Given the description of an element on the screen output the (x, y) to click on. 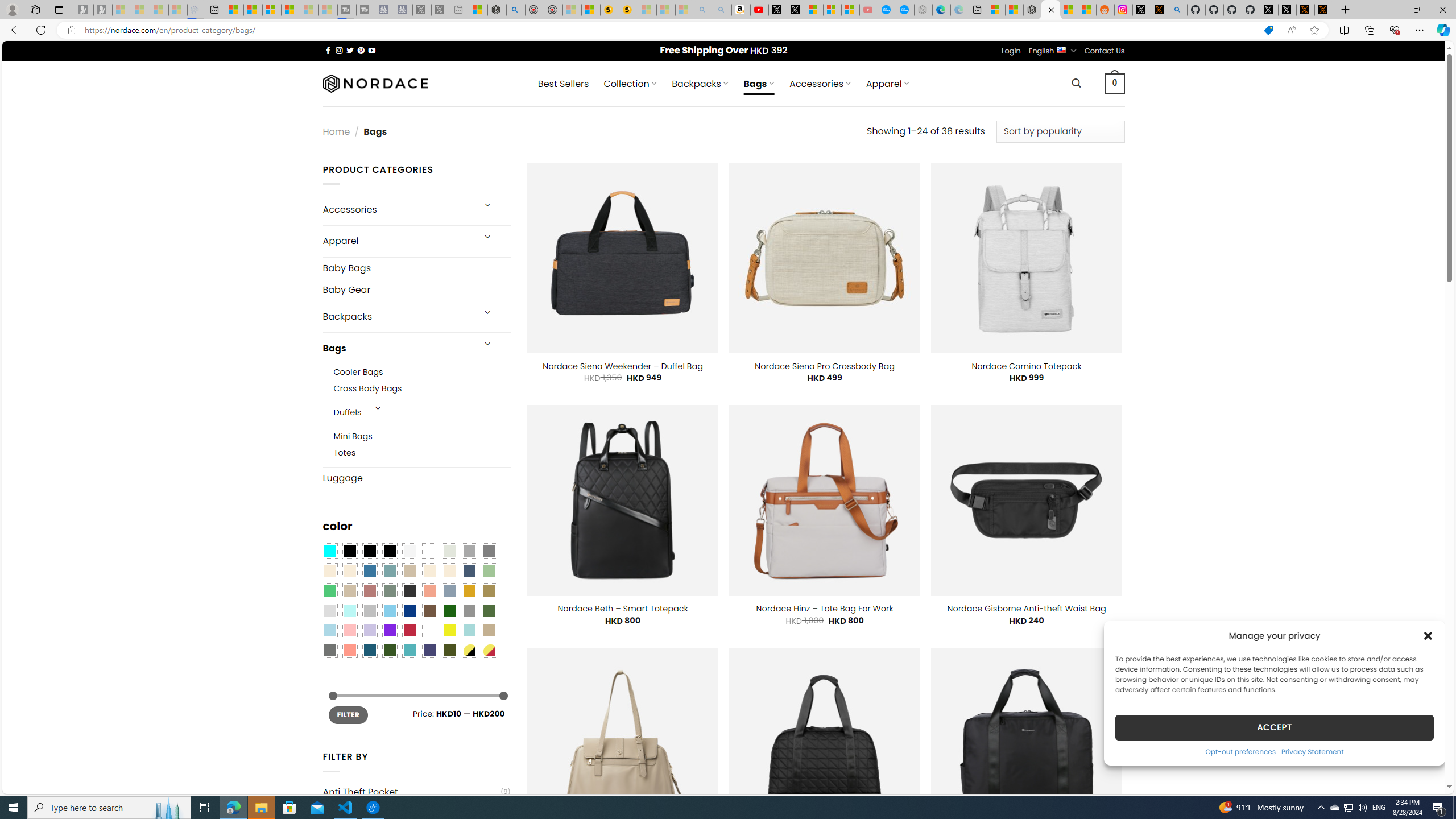
Apparel (397, 241)
The most popular Google 'how to' searches (904, 9)
Ash Gray (449, 550)
Kelp (488, 590)
Bags (397, 348)
Refresh (40, 29)
Log in to X / X (1142, 9)
Charcoal (408, 590)
Profile / X (1268, 9)
Nordace - Nordace has arrived Hong Kong - Sleeping (923, 9)
Sky Blue (389, 610)
